Given the description of an element on the screen output the (x, y) to click on. 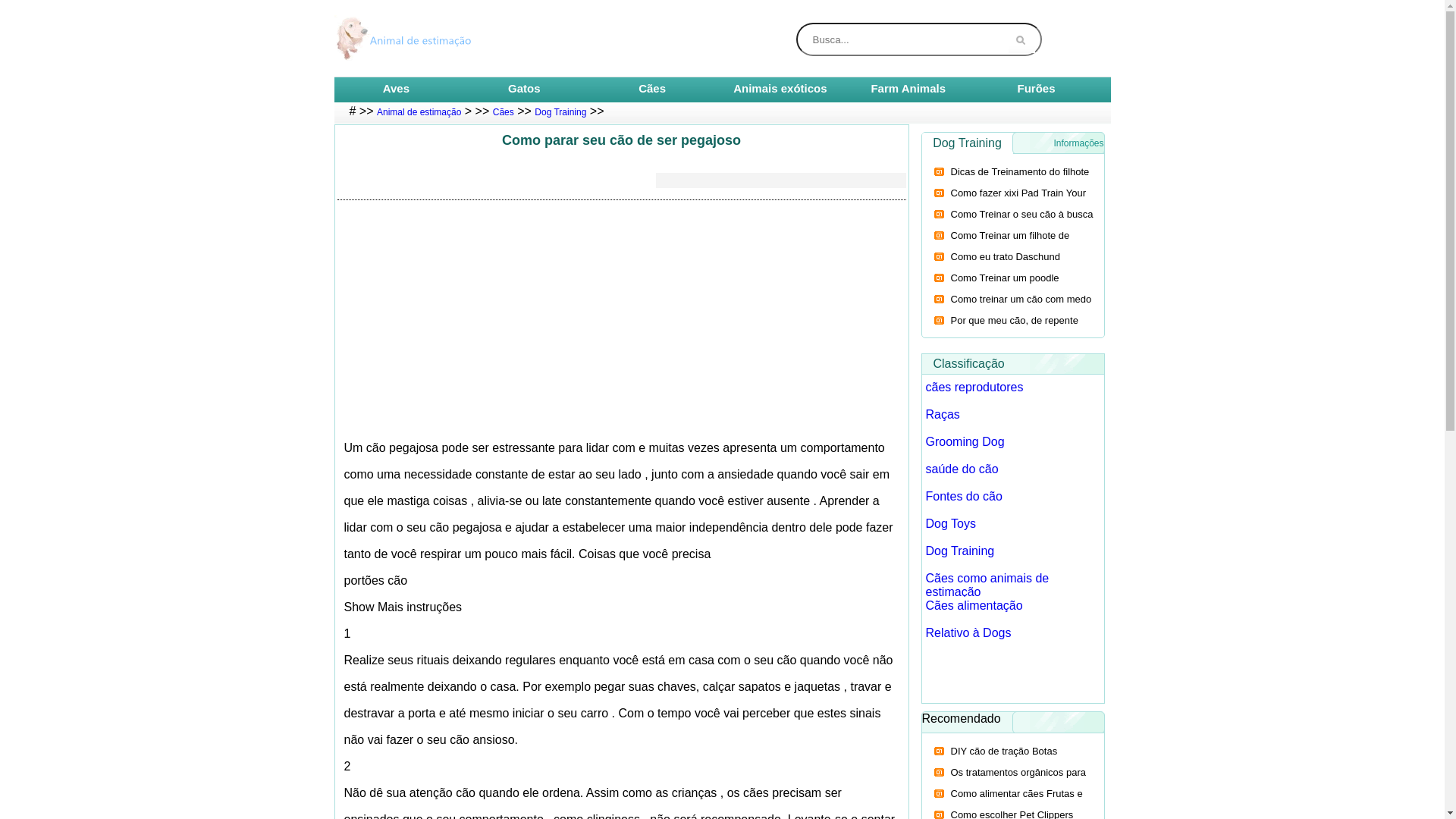
Dog Training Element type: text (959, 550)
Como Treinar um poodle miniatura para Sentada Element type: text (994, 288)
Dog Toys Element type: text (950, 523)
Gatos Element type: text (524, 87)
Aves Element type: text (395, 87)
Grooming Dog Element type: text (964, 441)
Como fazer xixi Pad Train Your Dog Element type: text (1007, 203)
Dog Training Element type: text (560, 111)
Farm Animals Element type: text (907, 87)
Advertisement Element type: hover (621, 320)
Como Treinar um filhote de cachorro Banho Element type: text (999, 245)
